Given the description of an element on the screen output the (x, y) to click on. 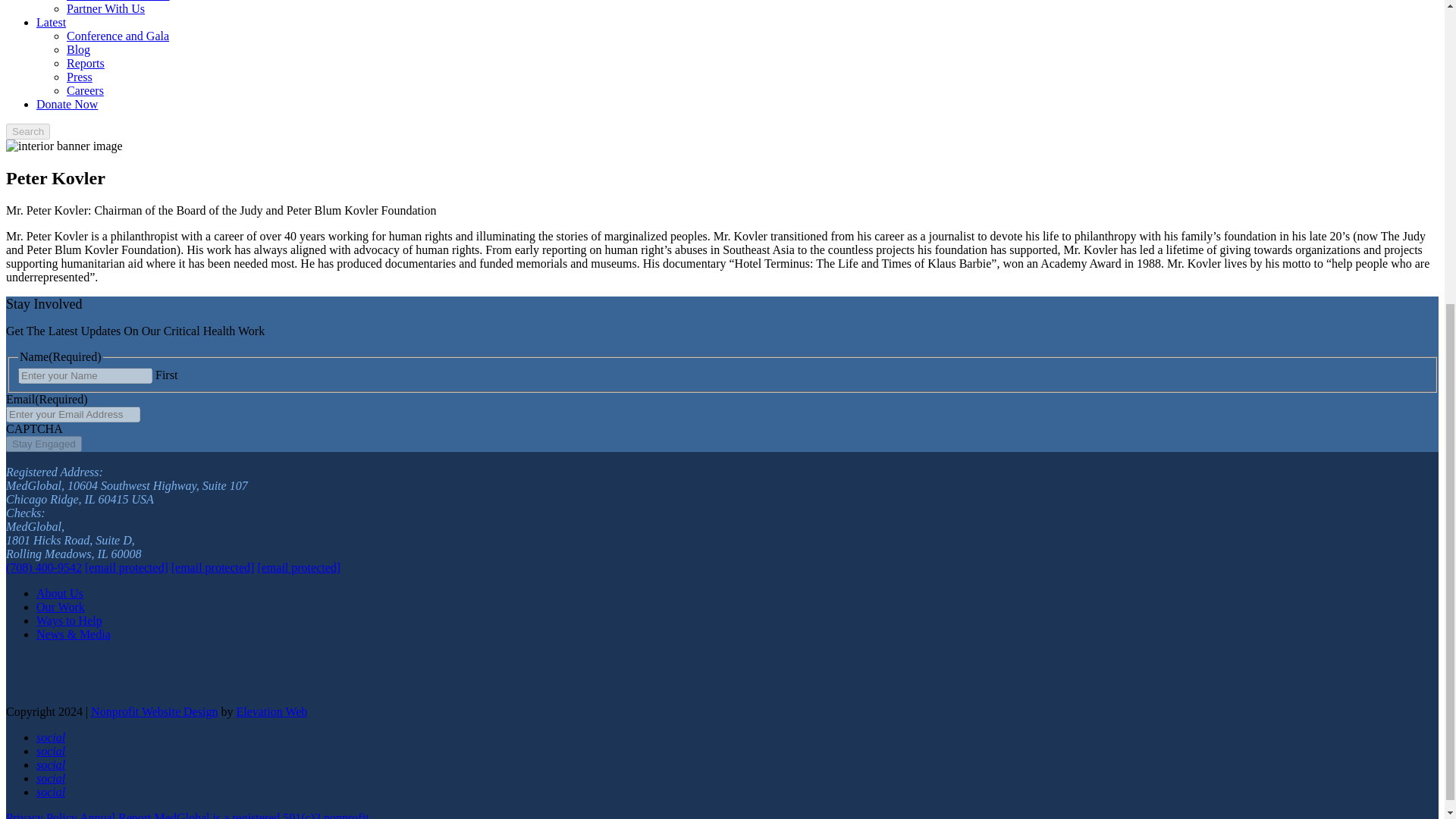
Stay Engaged (43, 443)
Calculate Your Zakat (118, 0)
Latest (50, 21)
Conference and Gala (117, 35)
Reports (85, 62)
Partner With Us (105, 8)
Blog (78, 49)
